Given the description of an element on the screen output the (x, y) to click on. 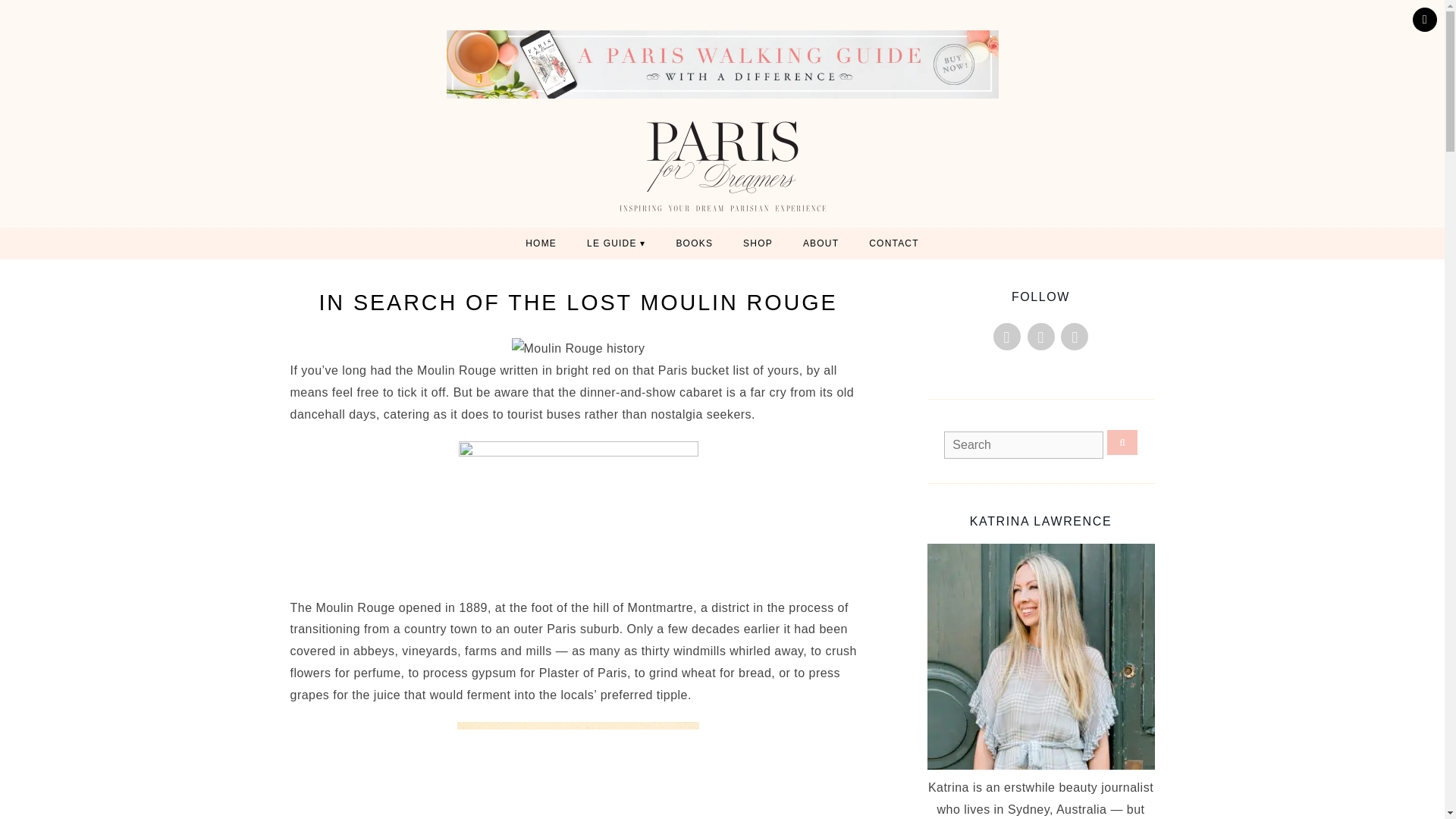
View your shopping cart (1424, 19)
CONTACT (893, 243)
ABOUT (820, 243)
Paris For Dreamers (722, 166)
In Search of the Lost Moulin Rouge (577, 302)
IN SEARCH OF THE LOST MOULIN ROUGE (577, 302)
HOME (541, 243)
SHOP (757, 243)
BOOKS (694, 243)
LE GUIDE (616, 243)
